Given the description of an element on the screen output the (x, y) to click on. 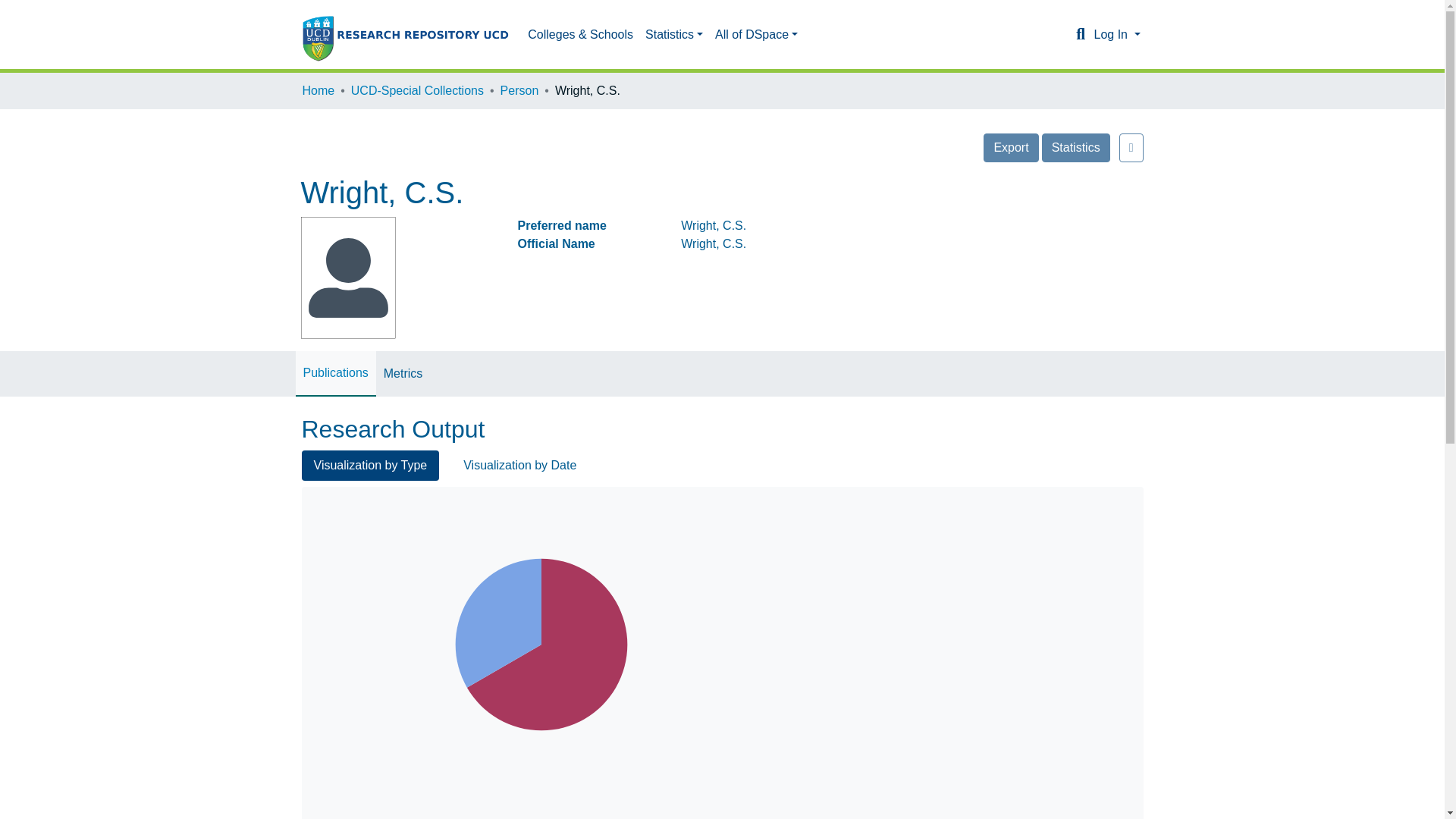
Person (519, 90)
Metrics (402, 373)
Metrics (402, 373)
All of DSpace (756, 34)
Visualization by Type (370, 465)
Publications (335, 372)
Home (317, 90)
Log In (1116, 33)
Visualization by Date (519, 465)
UCD-Special Collections (416, 90)
